Given the description of an element on the screen output the (x, y) to click on. 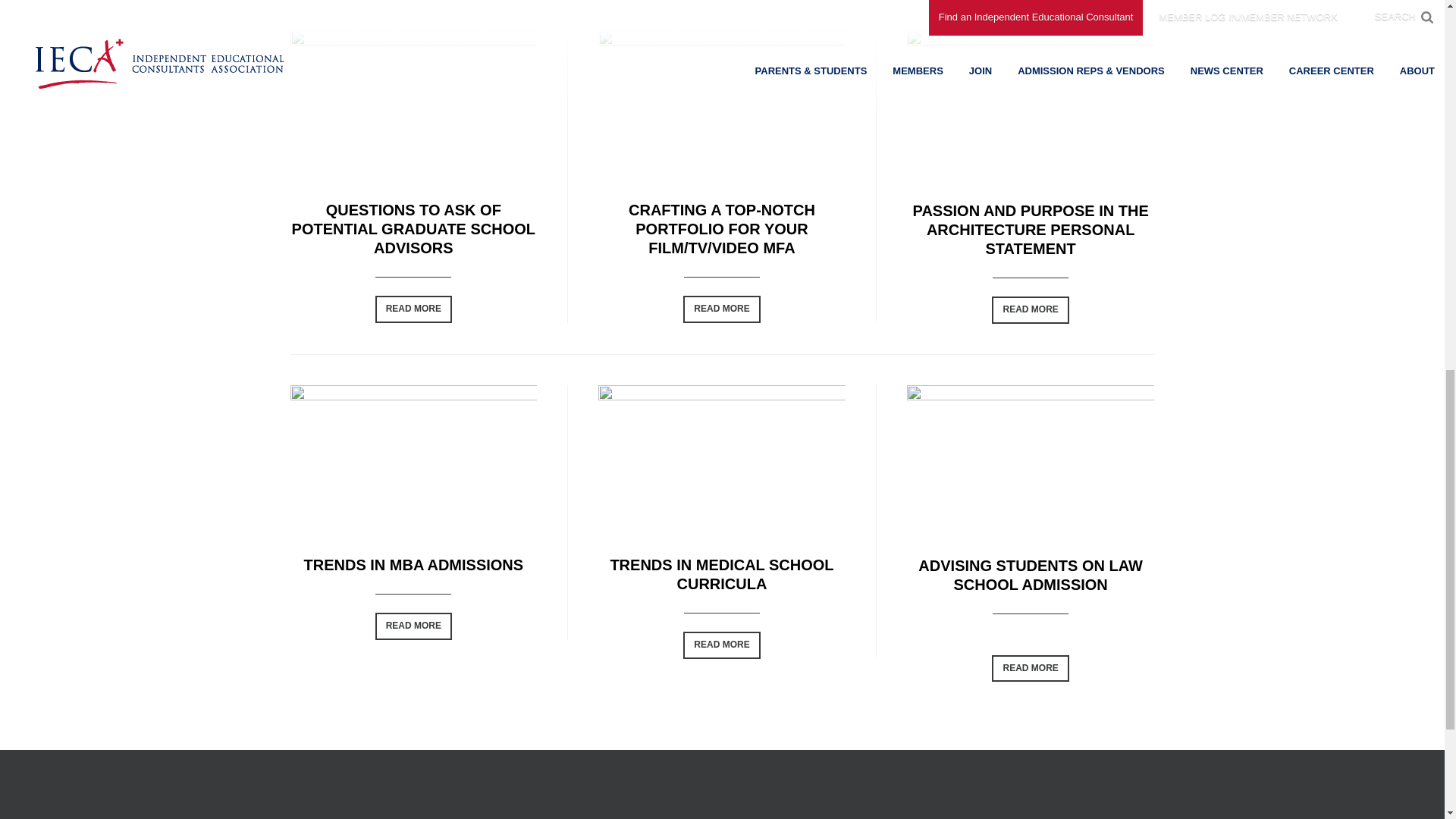
TRENDS IN MBA ADMISSIONS (412, 564)
QUESTIONS TO ASK OF POTENTIAL GRADUATE SCHOOL ADVISORS (413, 228)
PASSION AND PURPOSE IN THE ARCHITECTURE PERSONAL STATEMENT (1030, 229)
